Given the description of an element on the screen output the (x, y) to click on. 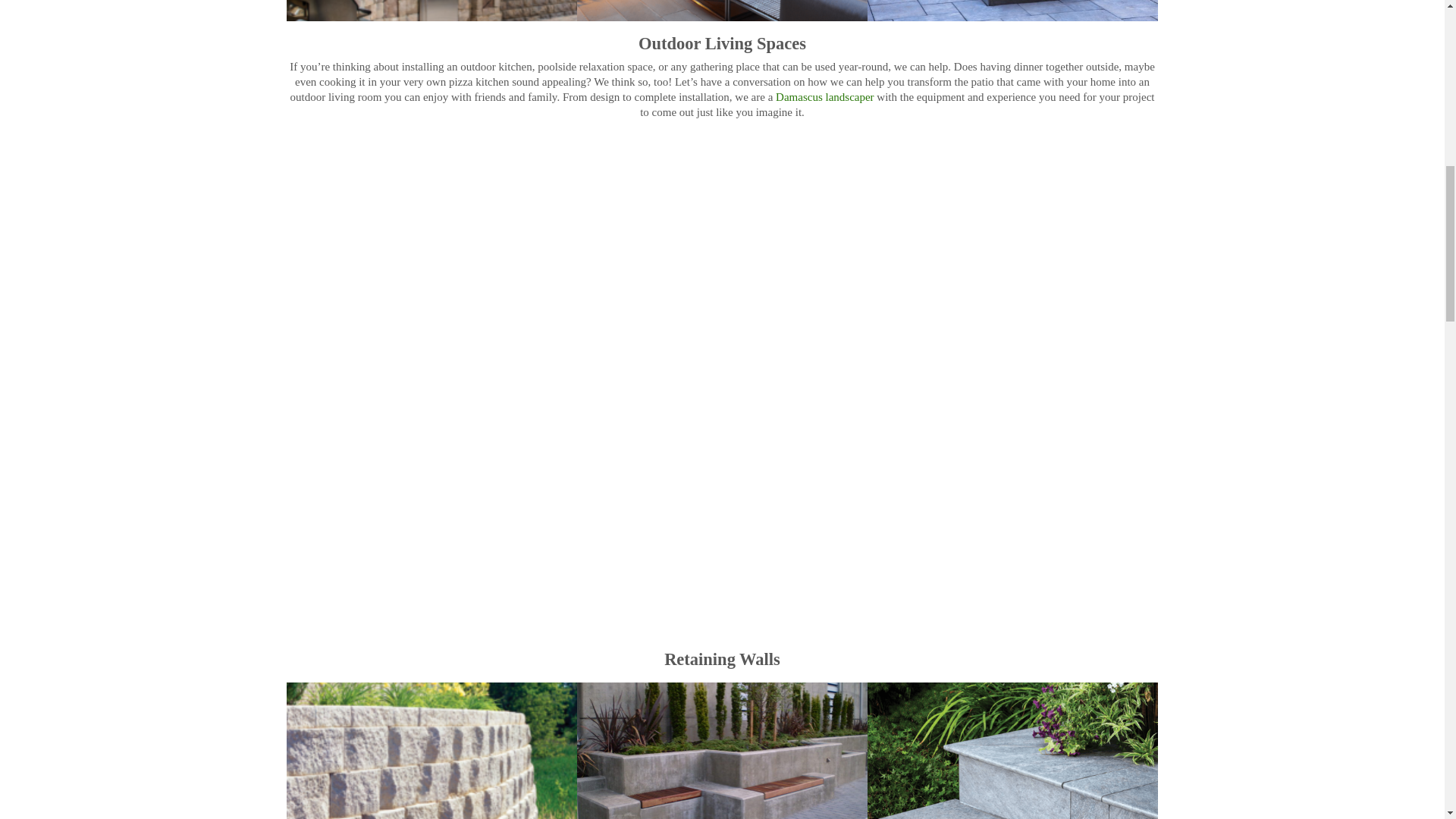
Damascus landscaper (825, 96)
